Given the description of an element on the screen output the (x, y) to click on. 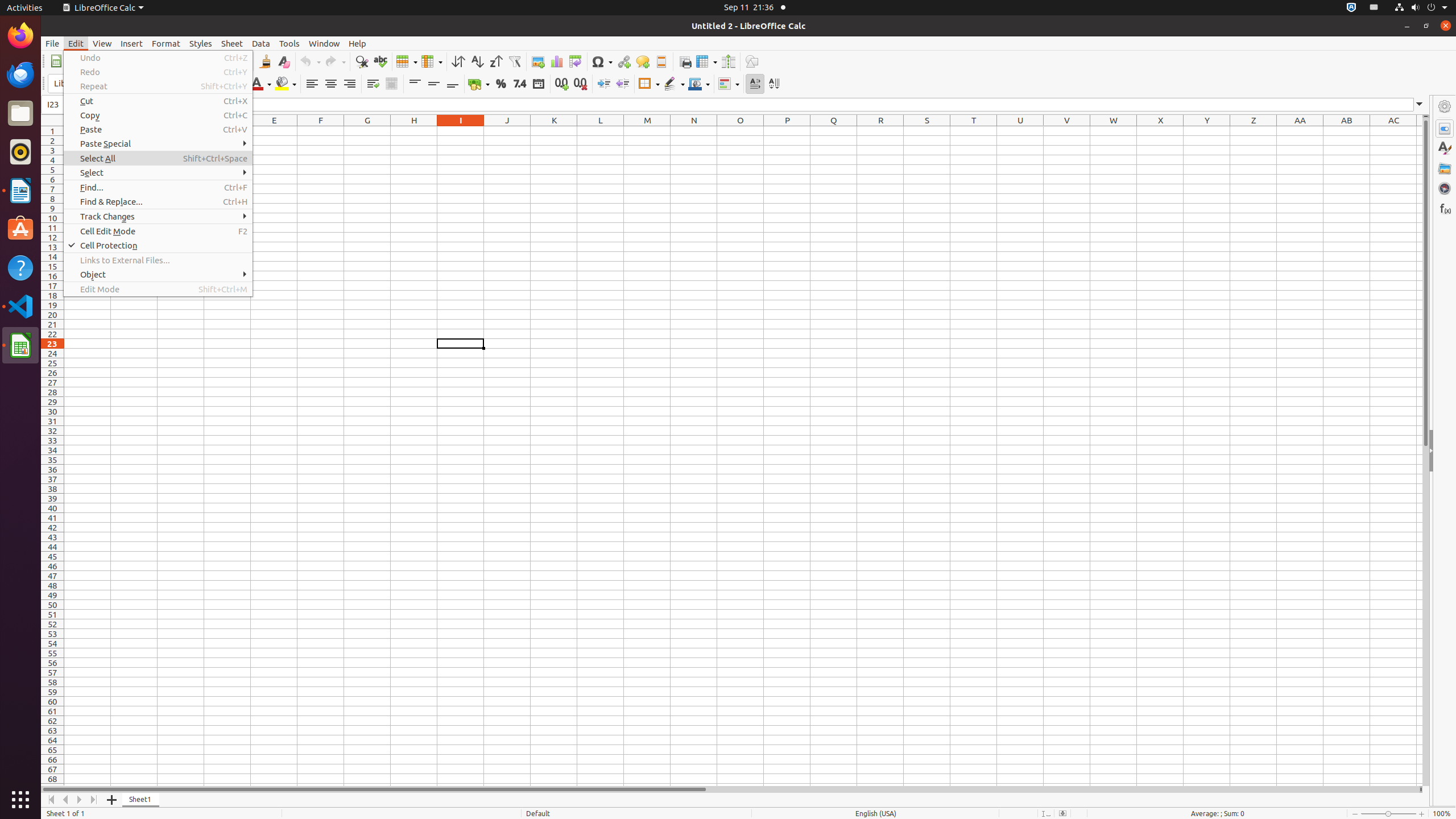
Properties Element type: panel (1444, 450)
Align Right Element type: push-button (349, 83)
Sheet Element type: menu (231, 43)
Expand Formula Bar Element type: push-button (1419, 104)
File Element type: menu (51, 43)
